Given the description of an element on the screen output the (x, y) to click on. 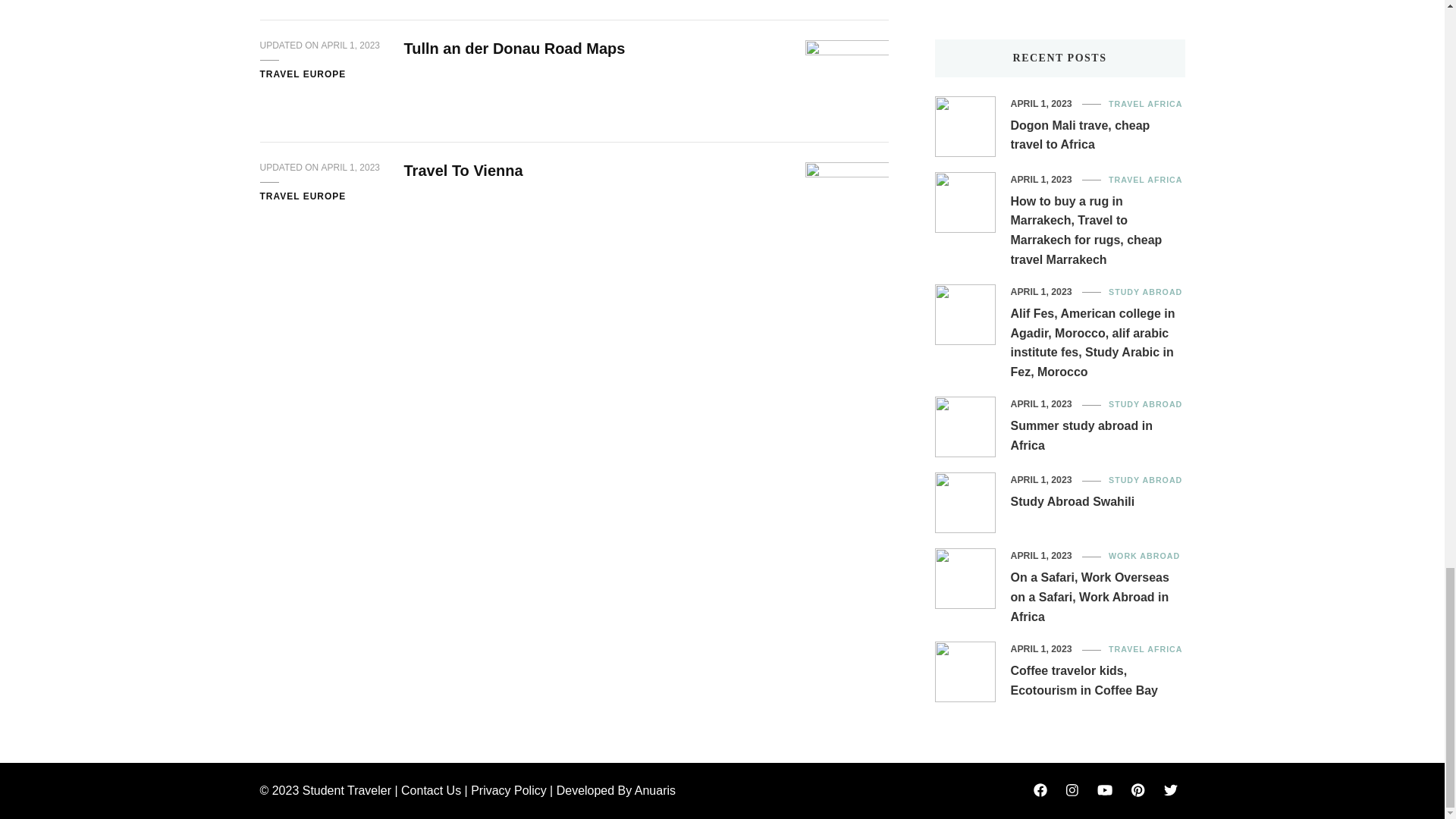
TRAVEL EUROPE (302, 74)
Travel To Vienna (462, 170)
APRIL 1, 2023 (350, 46)
Tulln an der Donau Road Maps (513, 48)
APRIL 1, 2023 (350, 168)
TRAVEL EUROPE (302, 196)
